Given the description of an element on the screen output the (x, y) to click on. 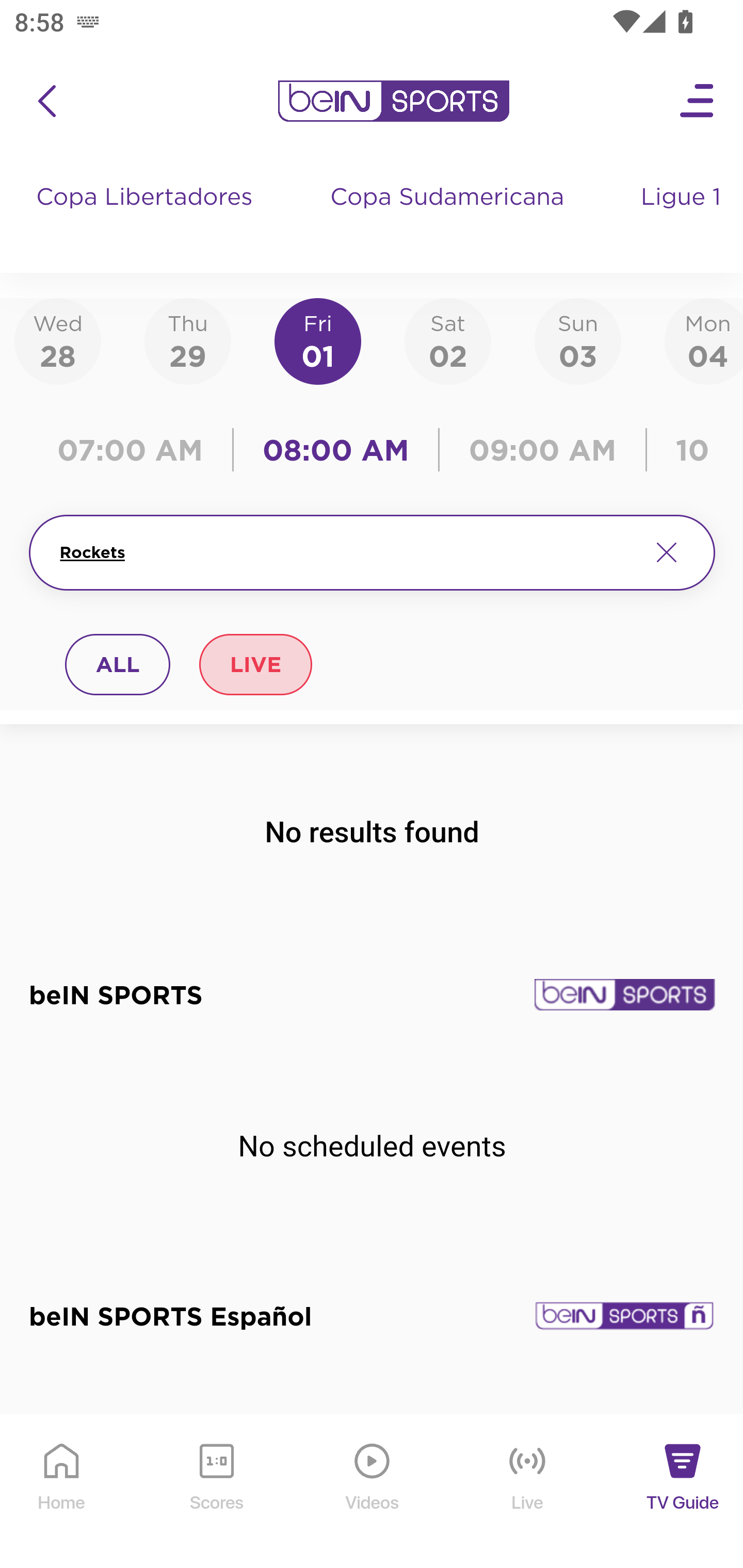
en-us?platform=mobile_android bein logo (392, 101)
icon back (46, 101)
Open Menu Icon (697, 101)
Copa Libertadores (146, 216)
Copa Sudamericana (448, 216)
Ligue 1 (682, 216)
Wed28 (58, 340)
Thu29 (187, 340)
Fri01 (318, 340)
Sat02 (447, 340)
Sun03 (578, 340)
Mon04 (703, 340)
07:00 AM (135, 449)
08:00 AM (336, 449)
09:00 AM (542, 449)
Rockets (346, 552)
ALL (118, 663)
LIVE (255, 663)
Home Home Icon Home (61, 1491)
Scores Scores Icon Scores (216, 1491)
Videos Videos Icon Videos (372, 1491)
TV Guide TV Guide Icon TV Guide (682, 1491)
